Given the description of an element on the screen output the (x, y) to click on. 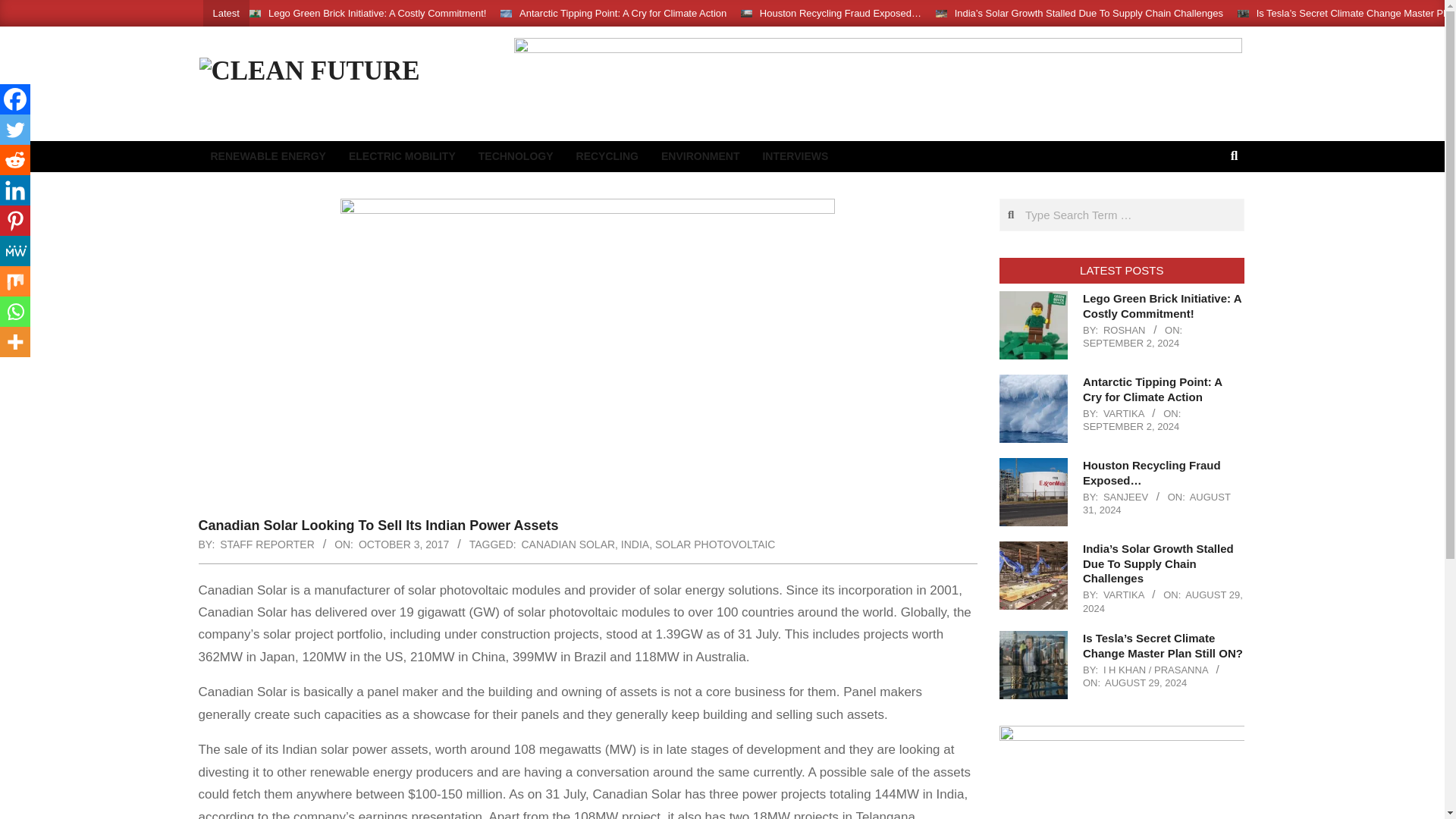
CANADIAN SOLAR (568, 544)
ENVIRONMENT (700, 155)
Twitter (15, 129)
Linkedin (15, 190)
Lego Green Brick Initiative: A Costly Commitment! (376, 12)
Tuesday, October 3, 2017, 5:44 pm (403, 544)
MeWe (15, 250)
Search (24, 9)
Reddit (15, 159)
STAFF REPORTER (266, 544)
